Given the description of an element on the screen output the (x, y) to click on. 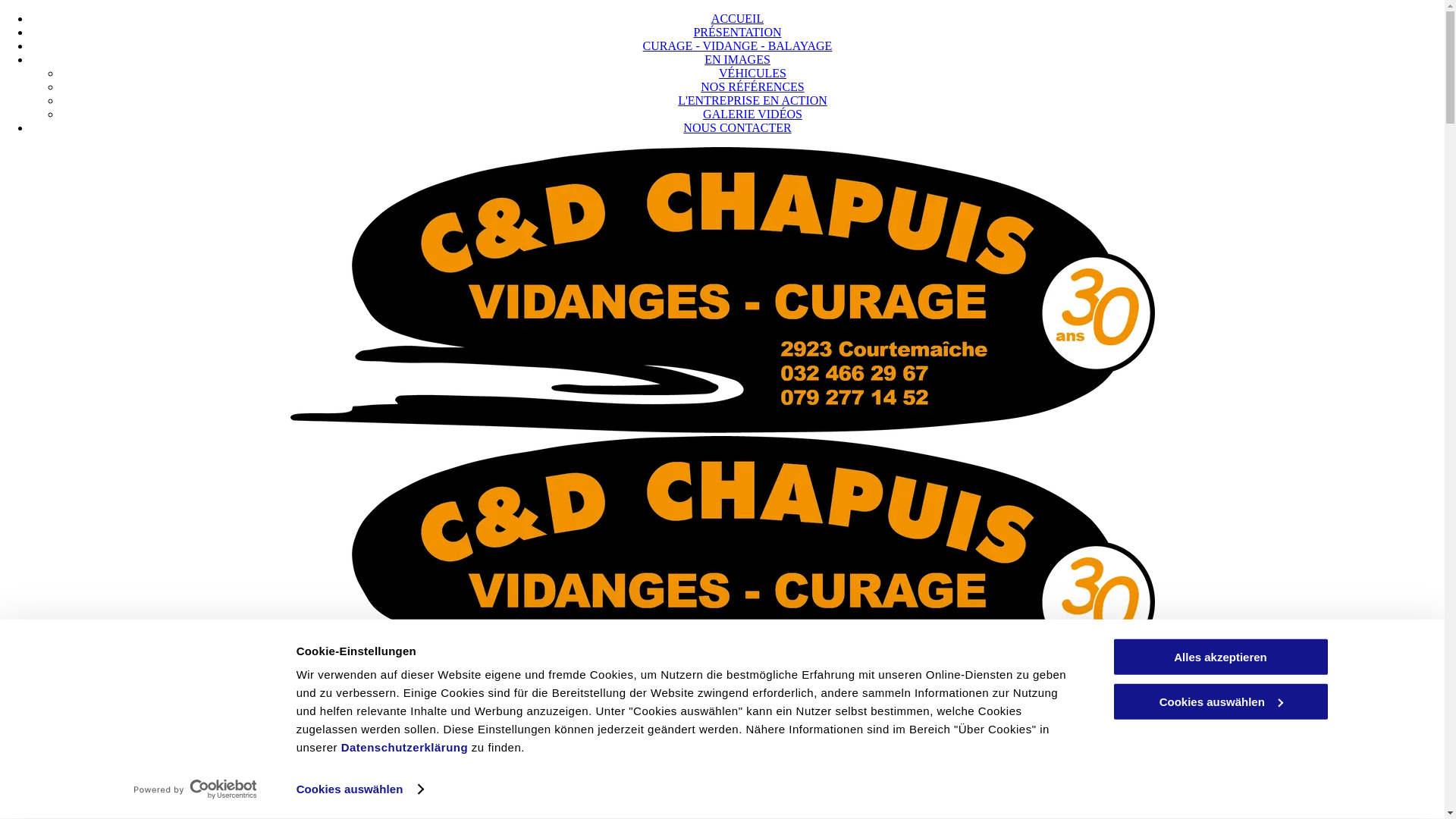
NOUS CONTACTER Element type: text (736, 127)
ACCUEIL Element type: text (737, 18)
EN IMAGES Element type: text (737, 784)
ACCUEIL Element type: text (737, 743)
Alles akzeptieren Element type: text (1219, 656)
CURAGE - VIDANGE - BALAYAGE Element type: text (737, 45)
L'ENTREPRISE EN ACTION Element type: text (752, 100)
CURAGE - VIDANGE - BALAYAGE Element type: text (737, 770)
EN IMAGES Element type: text (737, 59)
